Given the description of an element on the screen output the (x, y) to click on. 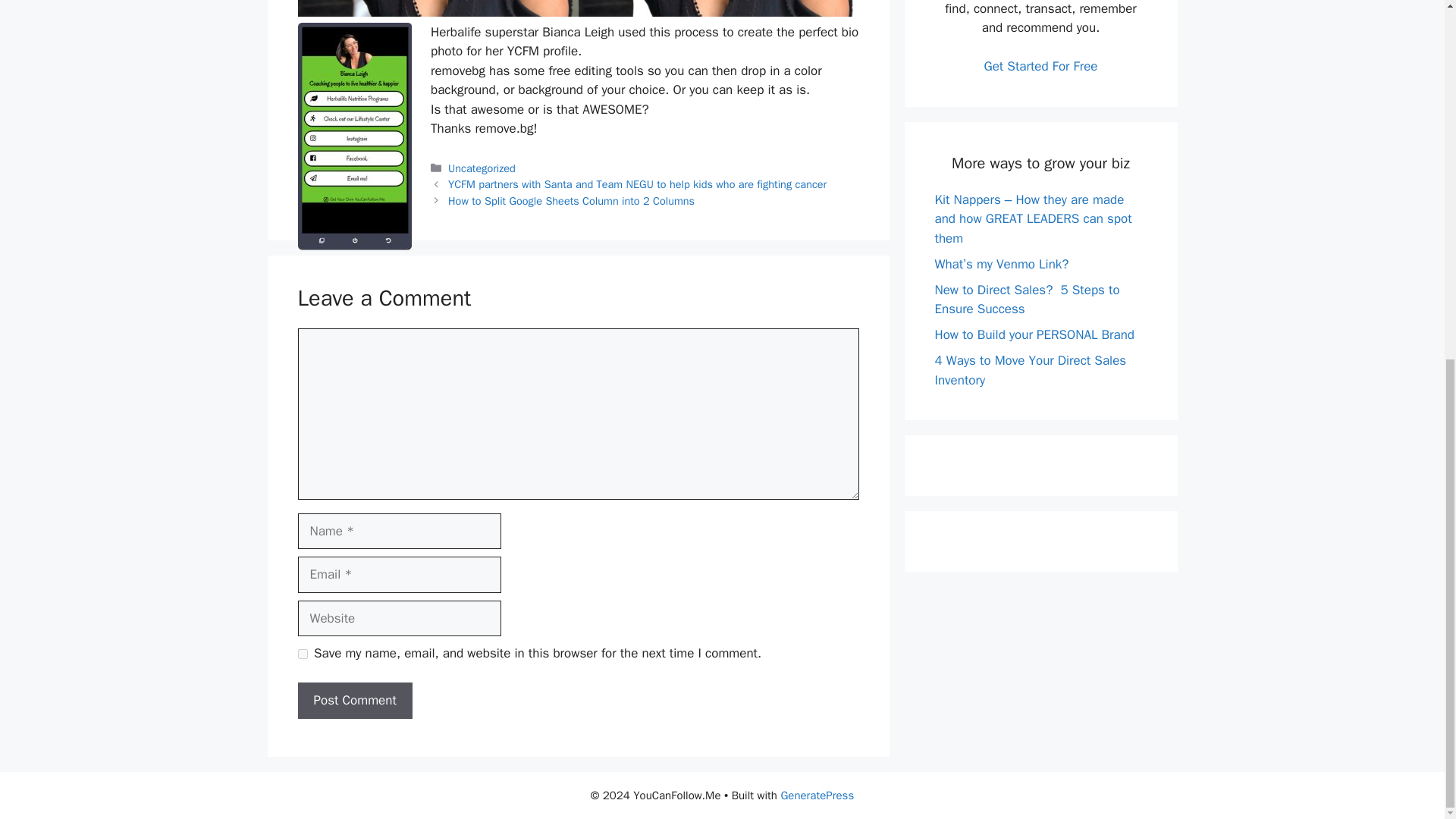
yes (302, 654)
New to Direct Sales?  5 Steps to Ensure Success (1026, 299)
How to Split Google Sheets Column into 2 Columns (571, 201)
Post Comment (354, 700)
Uncategorized (481, 168)
How to Build your PERSONAL Brand (1034, 334)
Get Started For Free (1040, 66)
Previous (637, 183)
Post Comment (354, 700)
4 Ways to Move Your Direct Sales Inventory (1029, 370)
GeneratePress (816, 795)
Next (571, 201)
